Given the description of an element on the screen output the (x, y) to click on. 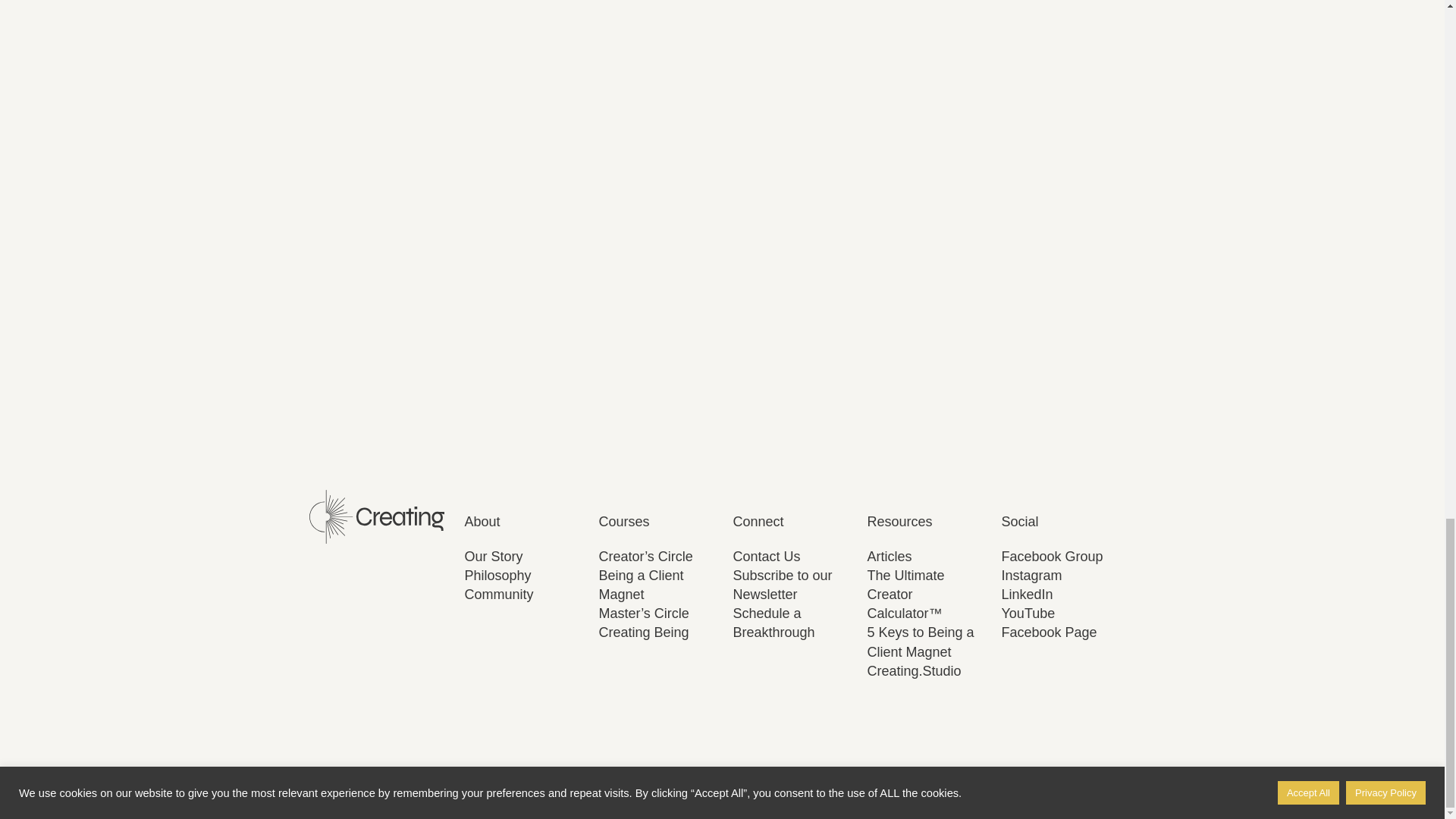
About (481, 521)
Philosophy (497, 575)
Community (498, 594)
Courses (623, 521)
Our Story (493, 556)
